Given the description of an element on the screen output the (x, y) to click on. 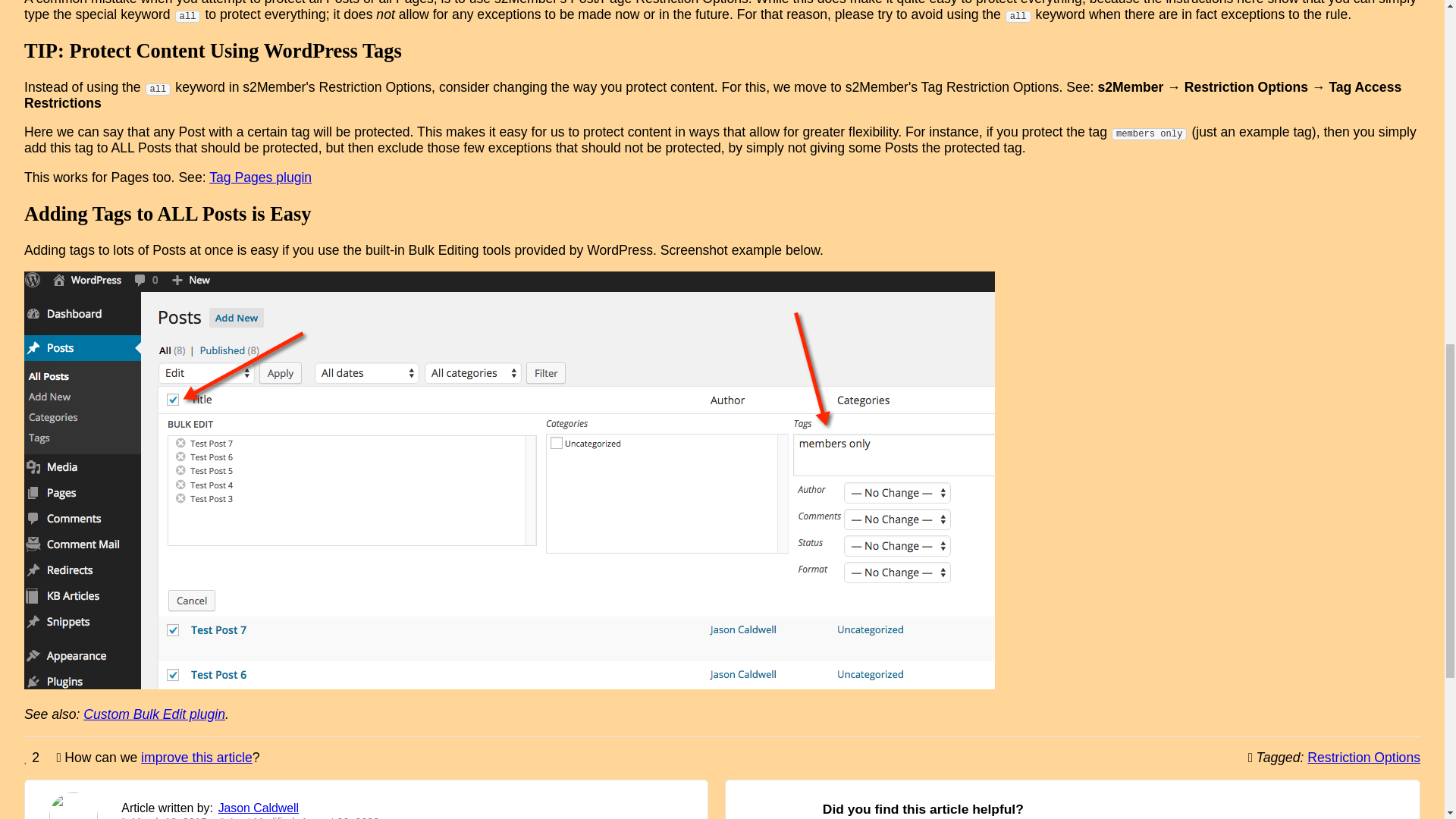
Tag Pages plugin (260, 177)
improve this article (196, 757)
Jason Caldwell (258, 807)
Custom Bulk Edit plugin (153, 713)
Restriction Options (1364, 757)
